Given the description of an element on the screen output the (x, y) to click on. 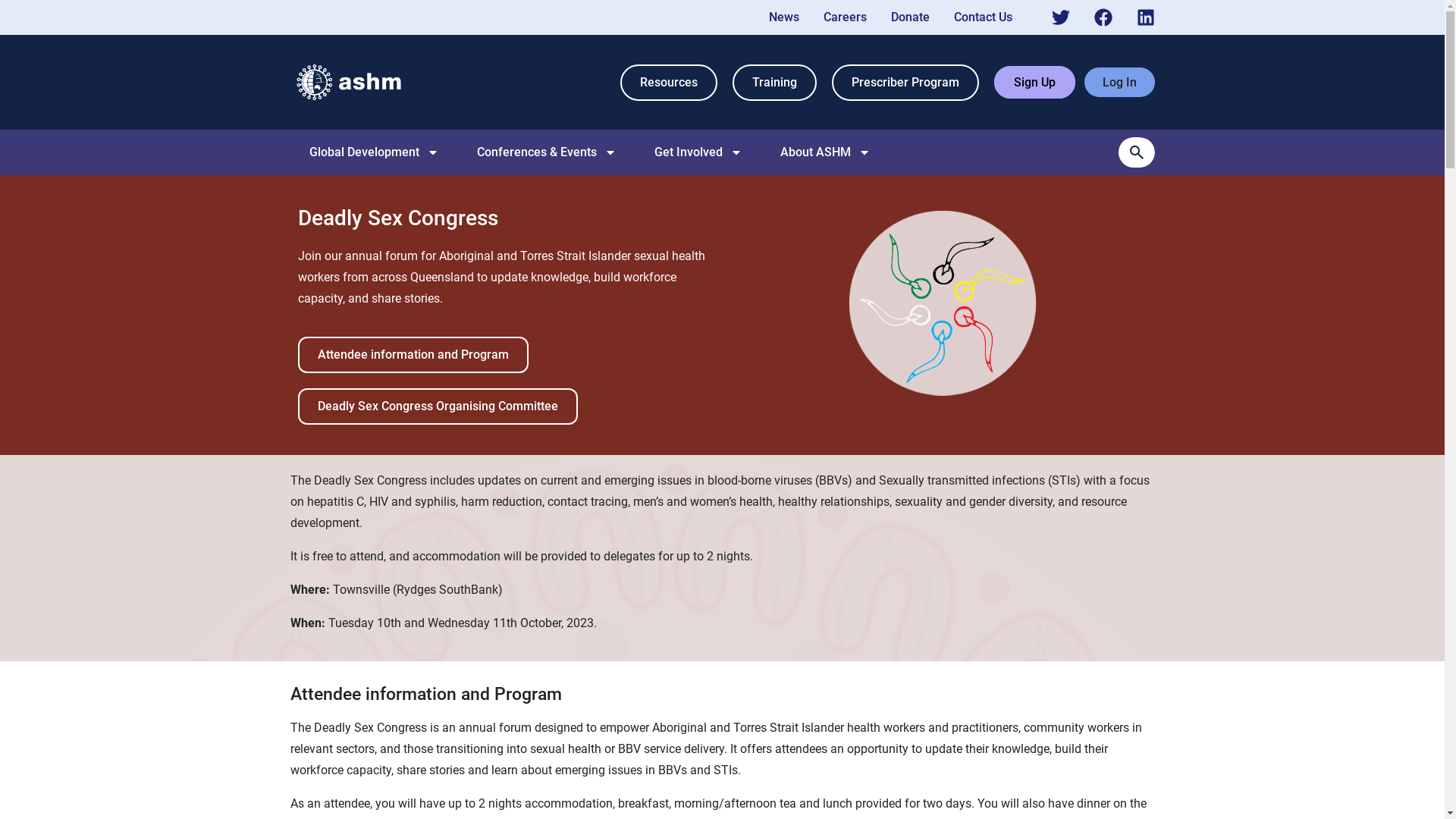
Conferences & Events Element type: text (545, 152)
Attendee information and Program Element type: text (412, 354)
Donate Element type: text (909, 17)
Global Development Element type: text (374, 152)
About ASHM Element type: text (824, 152)
Careers Element type: text (844, 17)
Sign Up Element type: text (1033, 81)
Log In Element type: text (1119, 82)
Training Element type: text (774, 82)
Resources Element type: text (668, 82)
Prescriber Program Element type: text (904, 82)
News Element type: text (783, 17)
Contact Us Element type: text (982, 17)
Deadly Sex Congress Organising Committee Element type: text (437, 406)
Get Involved Element type: text (697, 152)
